Given the description of an element on the screen output the (x, y) to click on. 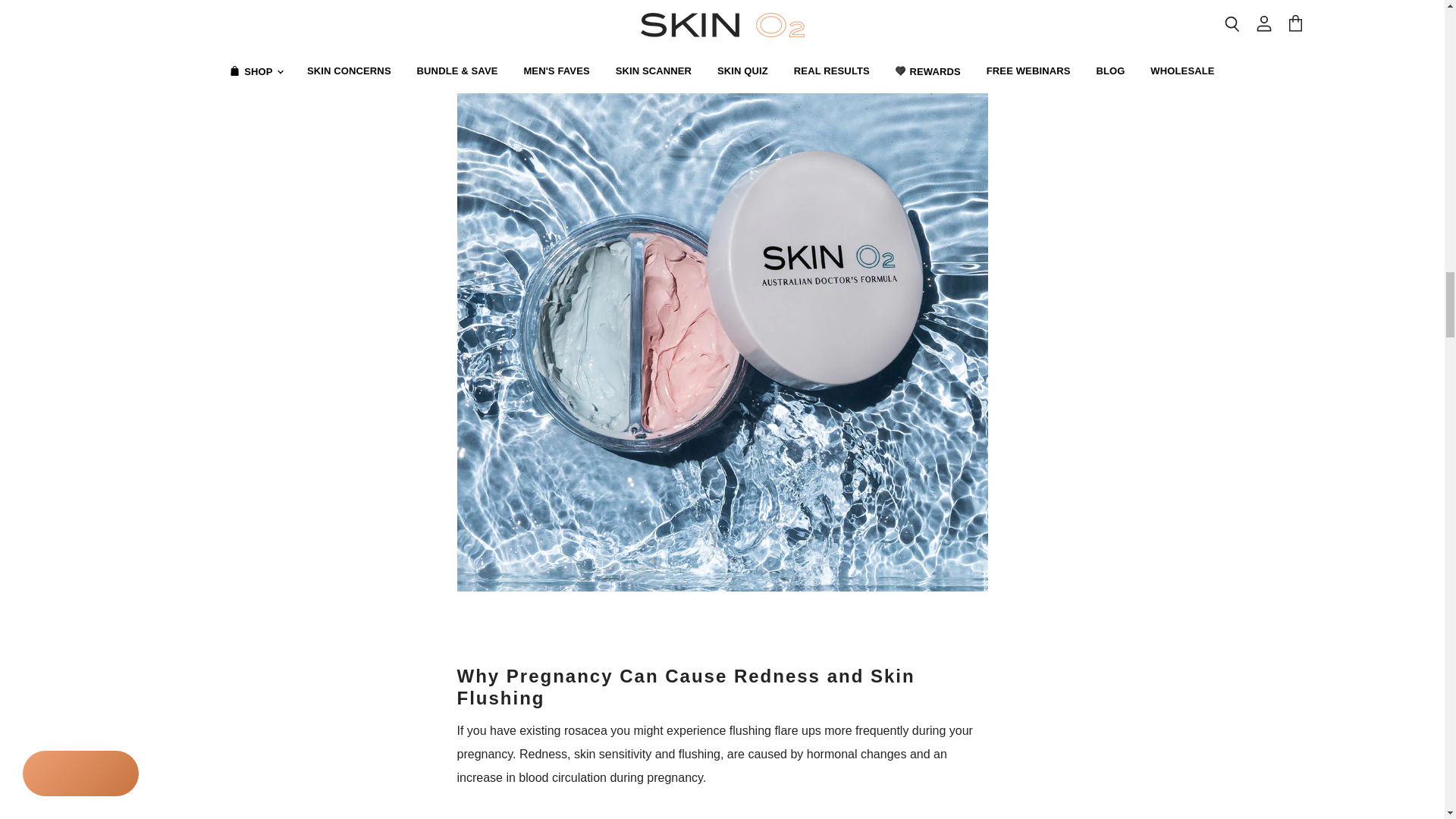
2 in 1 Clay Mask (722, 597)
